Given the description of an element on the screen output the (x, y) to click on. 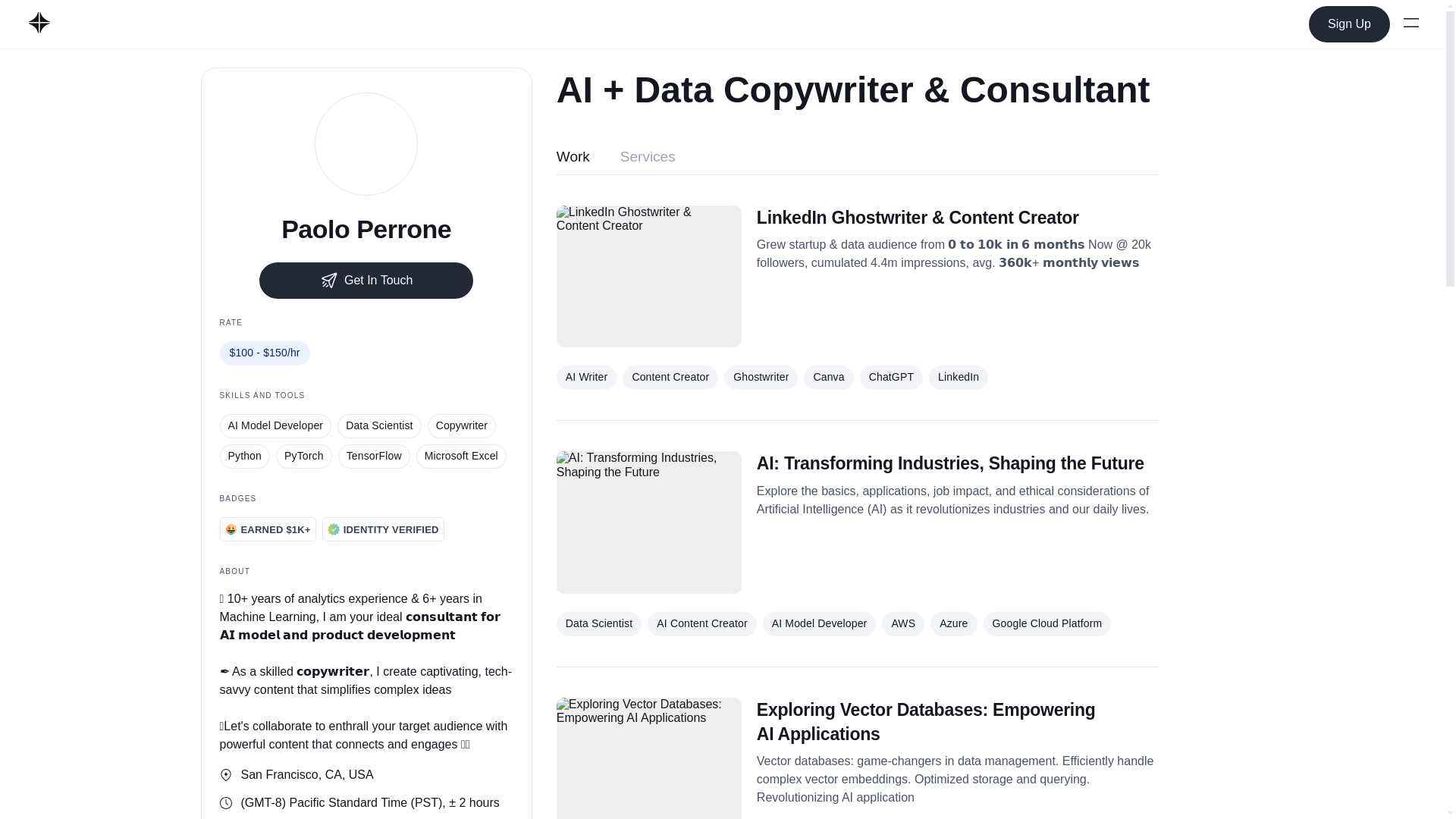
Sign Up (1349, 23)
Get In Touch (366, 280)
TensorFlow (373, 456)
PyTorch (303, 456)
Work (572, 158)
Copywriter (462, 426)
Exploring Vector Databases: Empowering AI Applications (957, 721)
Microsoft Excel (461, 456)
Paolo Perrone (366, 229)
AI Model Developer (275, 426)
AI: Transforming Industries, Shaping the Future (957, 463)
Python (244, 456)
Services (647, 158)
Data Scientist (378, 426)
